Given the description of an element on the screen output the (x, y) to click on. 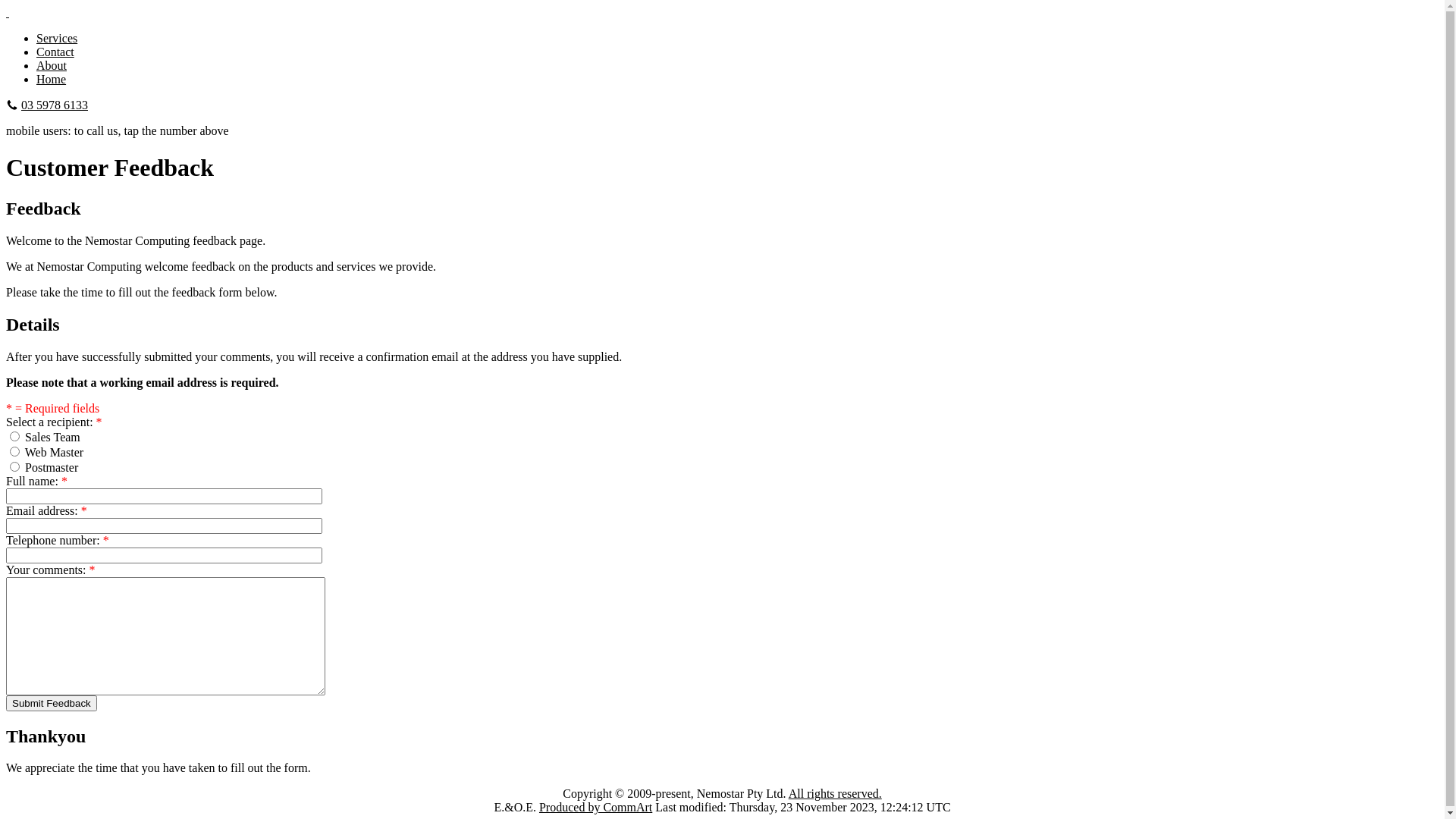
Contact Element type: text (55, 51)
About Element type: text (51, 65)
  Element type: text (7, 12)
Services Element type: text (56, 37)
Produced by CommArt Element type: text (595, 806)
Home page Element type: hover (7, 12)
03 5978 6133 Element type: text (54, 104)
Submit Feedback Element type: text (51, 703)
Home Element type: text (50, 78)
All rights reserved. Element type: text (834, 793)
